Given the description of an element on the screen output the (x, y) to click on. 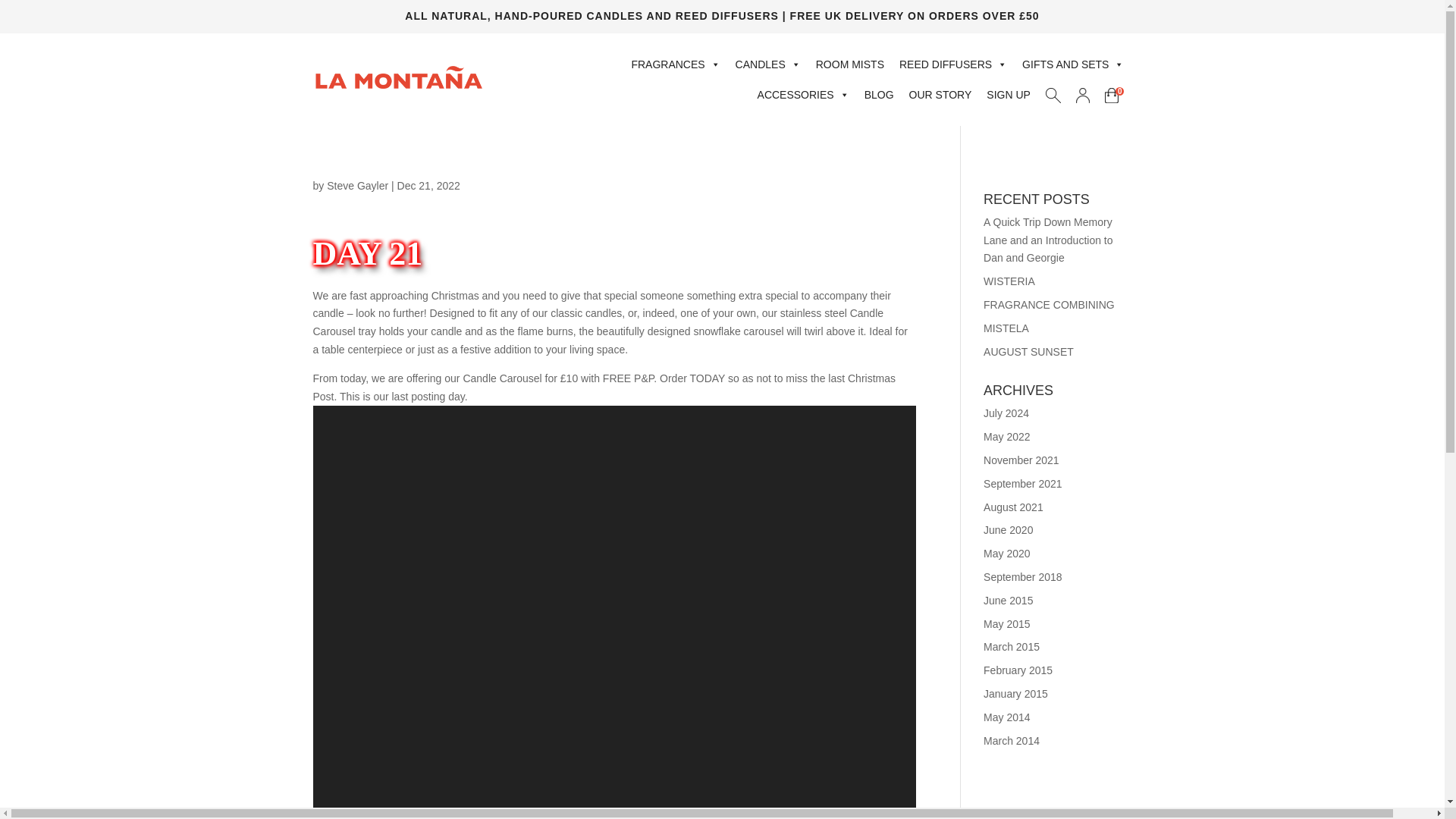
Posts by Steve Gayler (357, 185)
la-montana-logo (397, 77)
FRAGRANCES (674, 64)
